Given the description of an element on the screen output the (x, y) to click on. 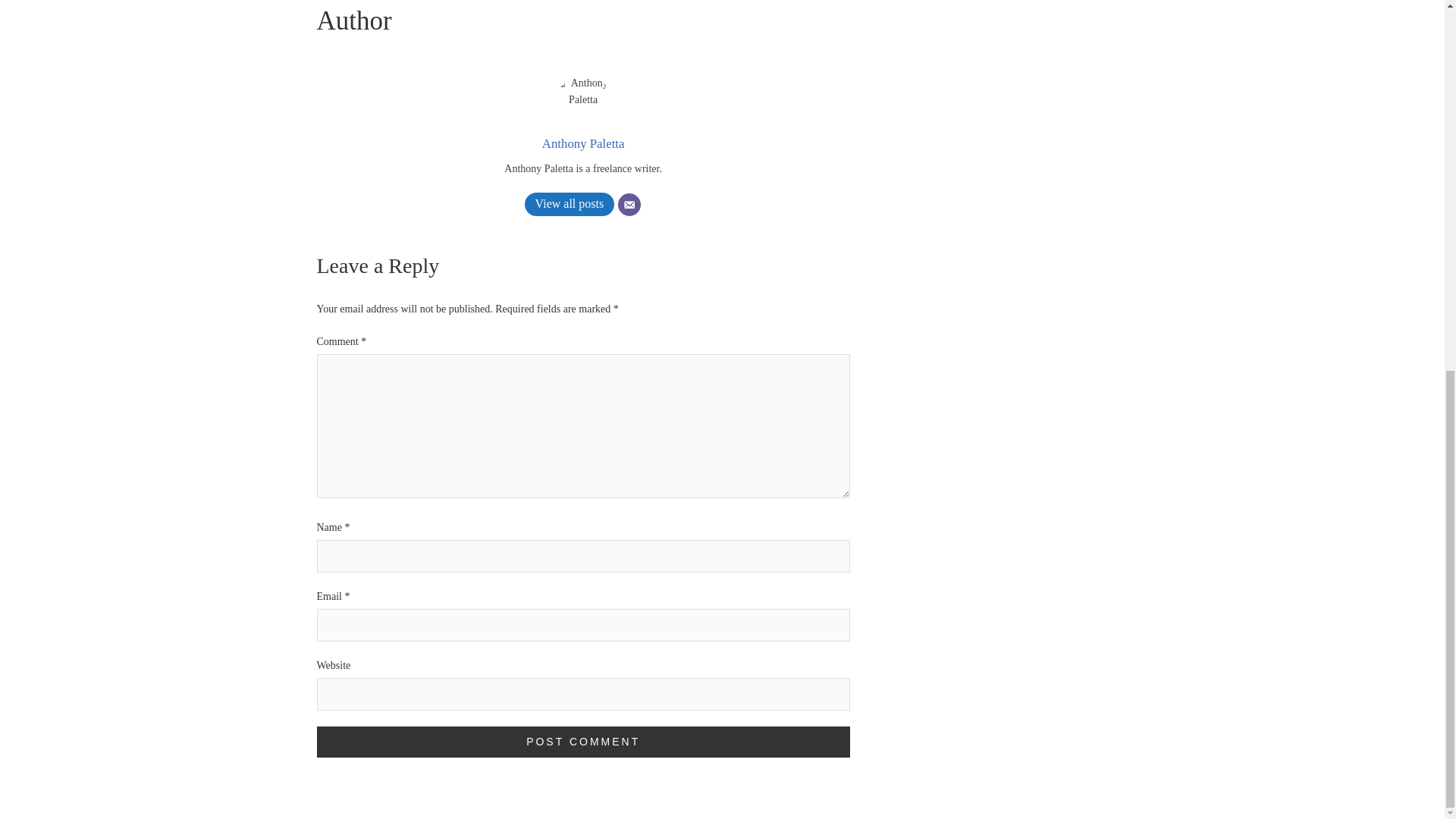
Anthony Paletta (582, 143)
Post Comment (583, 741)
Anthony Paletta (582, 143)
View all posts (569, 204)
View all posts (569, 204)
Post Comment (583, 741)
